Given the description of an element on the screen output the (x, y) to click on. 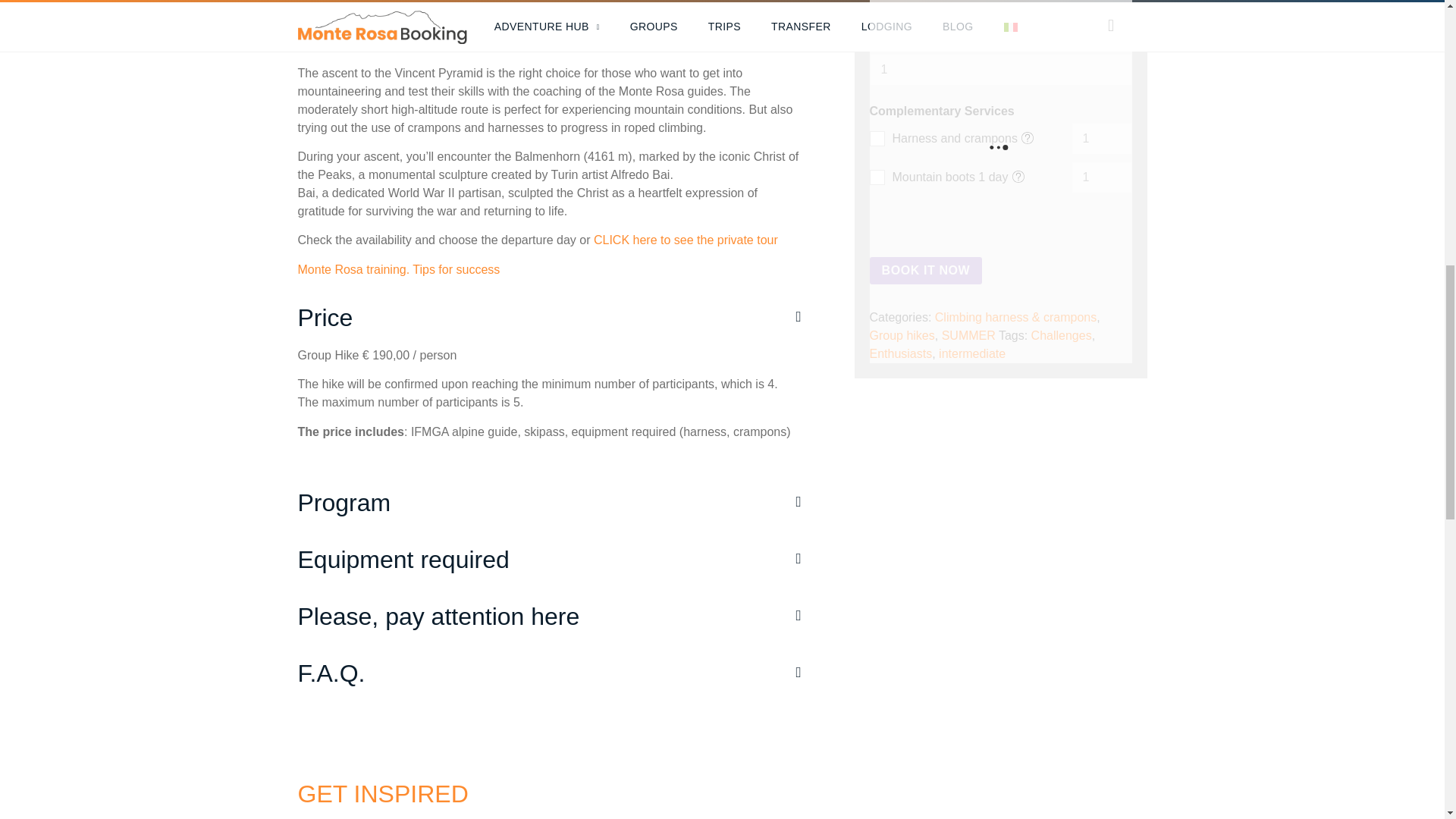
2024-06-01 (1000, 12)
1 (1100, 138)
1 (1100, 177)
1 (1000, 69)
